Given the description of an element on the screen output the (x, y) to click on. 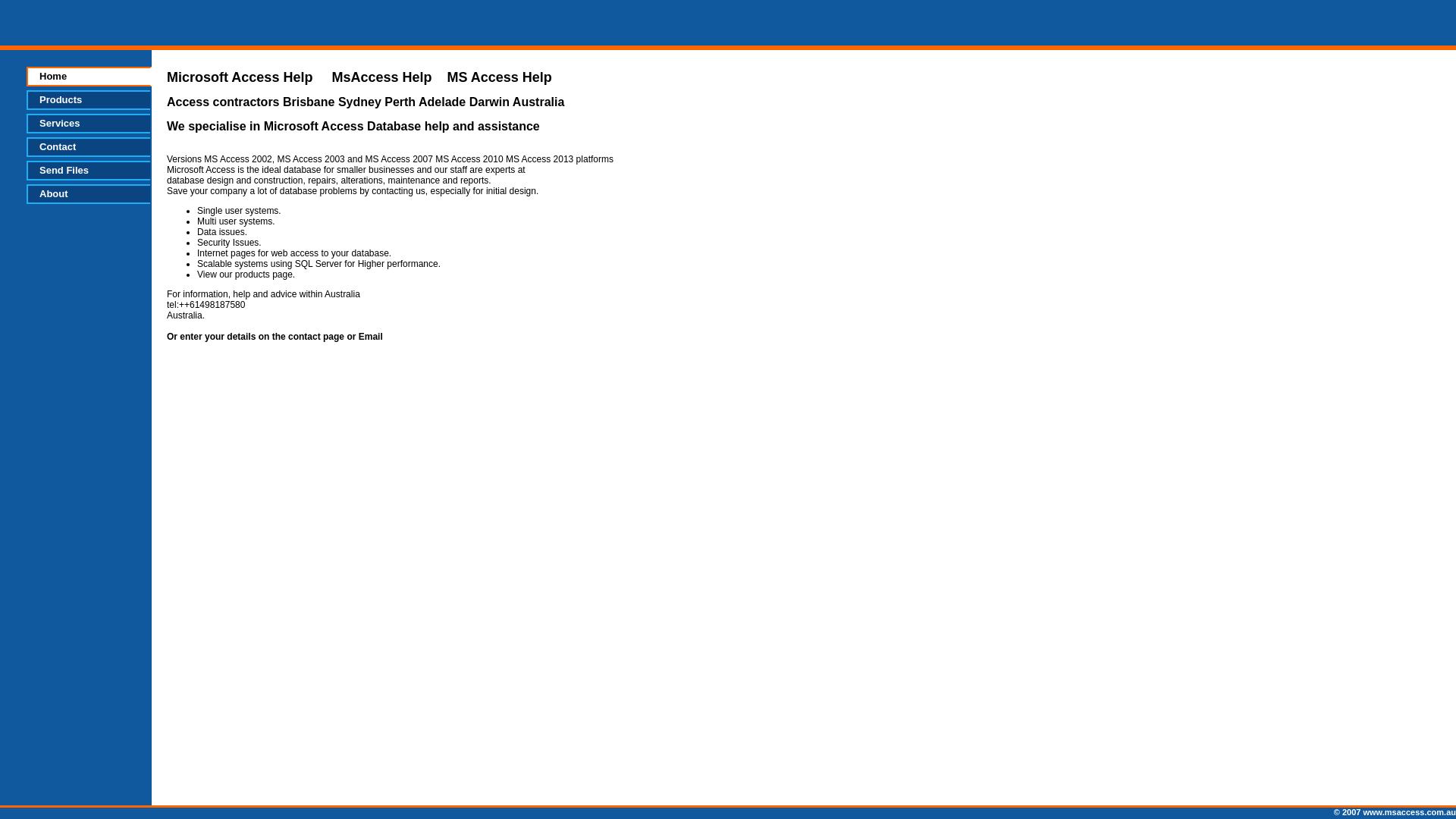
Send Files Element type: text (88, 170)
Services Element type: text (88, 123)
Products Element type: text (88, 99)
Home Element type: text (88, 76)
About Element type: text (88, 193)
Contact Element type: text (88, 146)
